Given the description of an element on the screen output the (x, y) to click on. 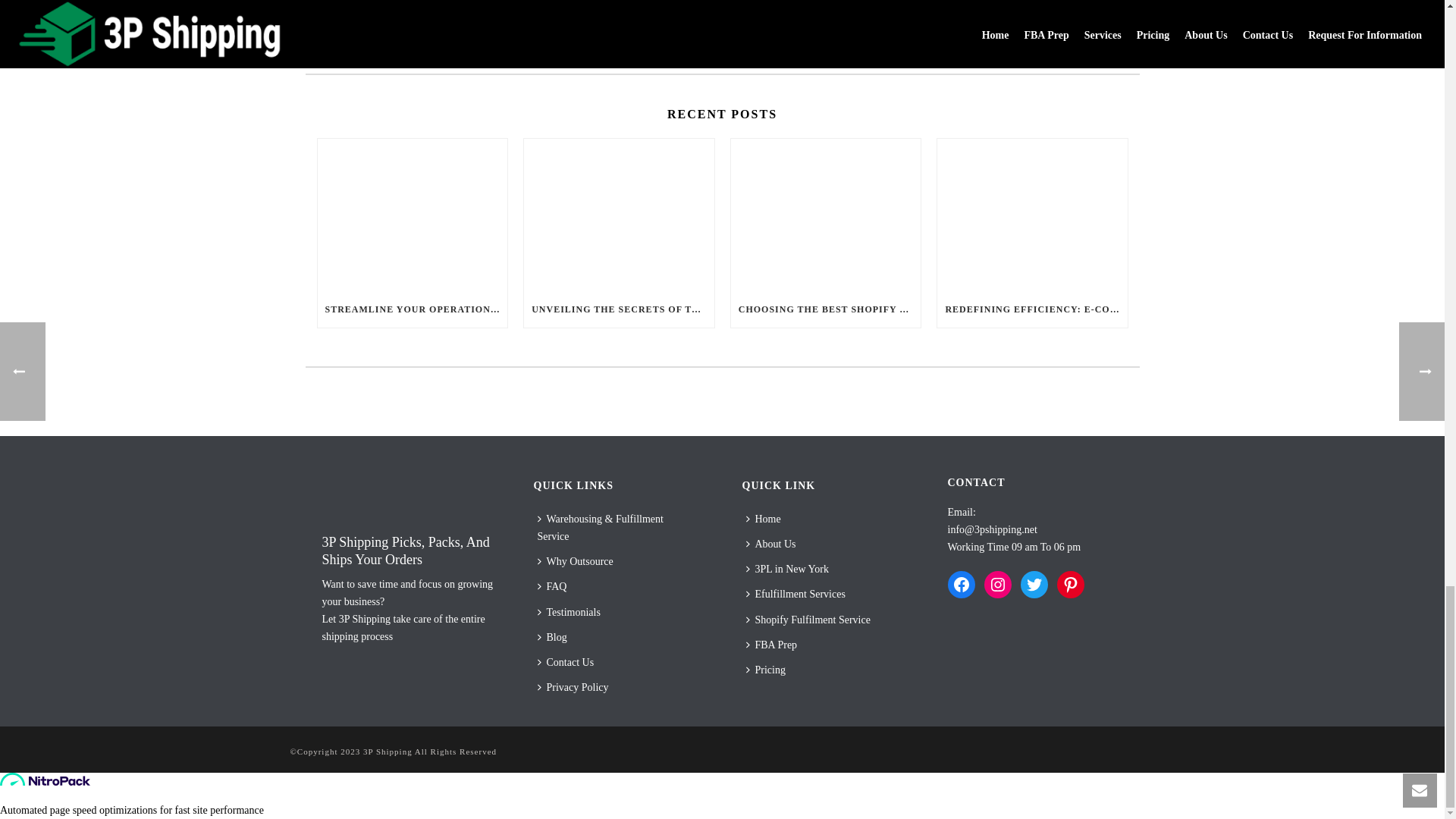
Get in touch with me via email (374, 34)
Choosing the Best Shopify Fulfillment Provider in New York (825, 214)
Unveiling The Secrets of Top Pick Pack and Ship Companies (619, 214)
